Given the description of an element on the screen output the (x, y) to click on. 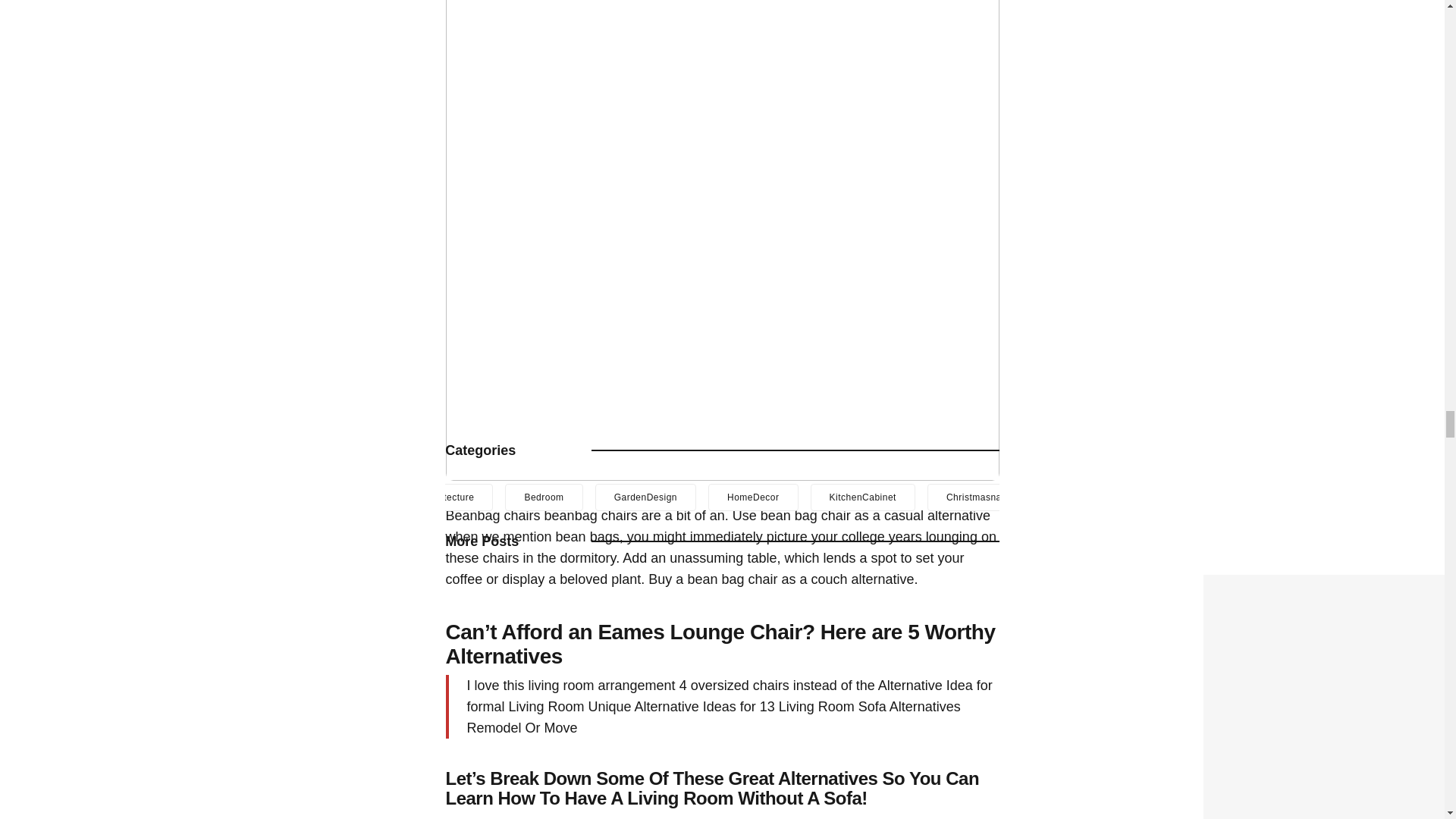
Christmasnails (978, 497)
Architecture (447, 497)
GardenDesign (645, 497)
HomeDecor (752, 497)
KitchenCabinet (862, 497)
Home Decor Crystal Ceiling Light (1312, 584)
Bedroom (543, 497)
